Given the description of an element on the screen output the (x, y) to click on. 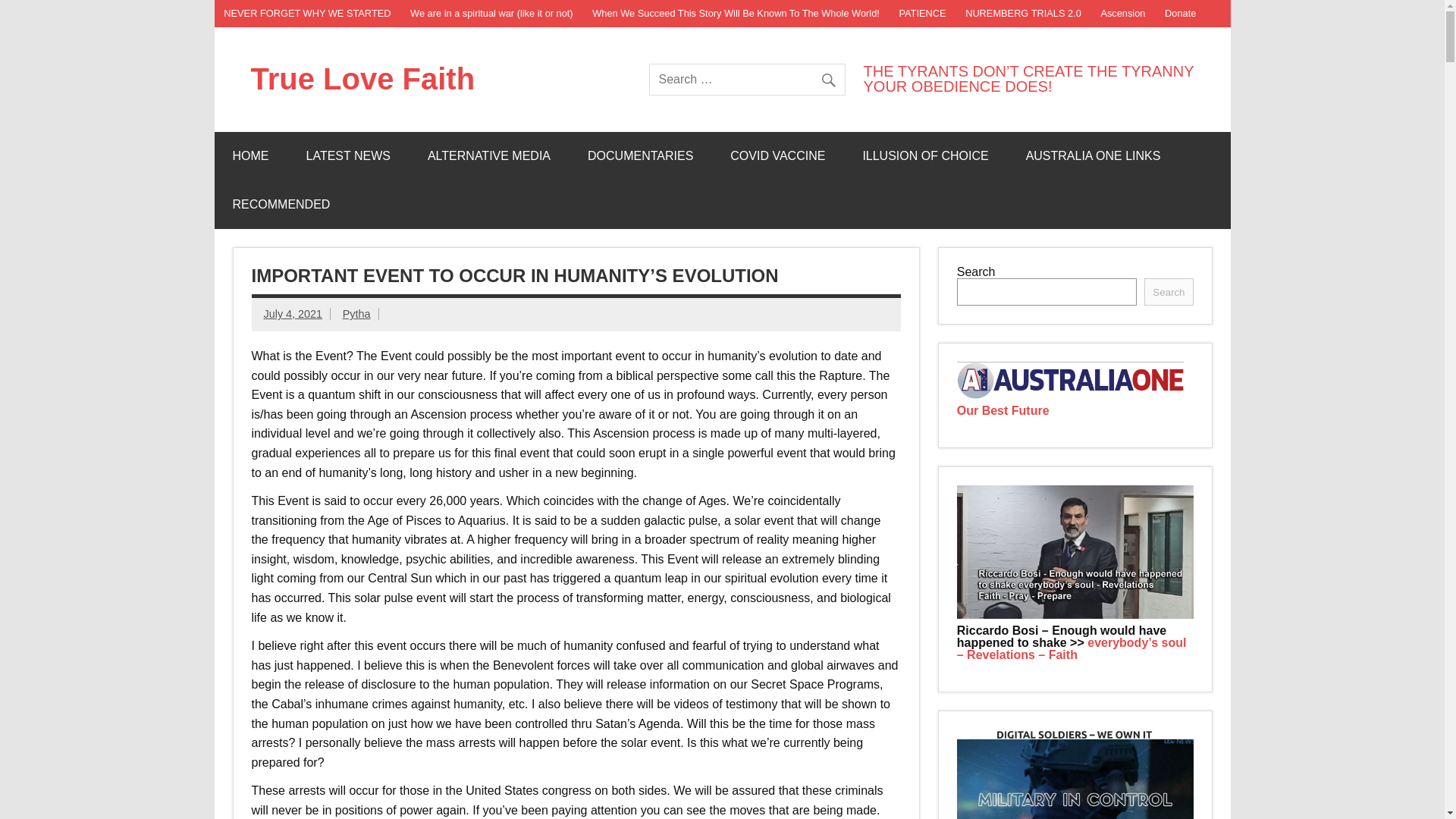
NUREMBERG TRIALS 2.0 (1022, 13)
Donate (1179, 13)
HOME (250, 155)
ALTERNATIVE MEDIA (489, 155)
View all posts by Pytha (356, 313)
When We Succeed This Story Will Be Known To The Whole World! (735, 13)
DOCUMENTARIES (640, 155)
Ascension (1123, 13)
11:00 pm (293, 313)
COVID VACCINE (777, 155)
